Given the description of an element on the screen output the (x, y) to click on. 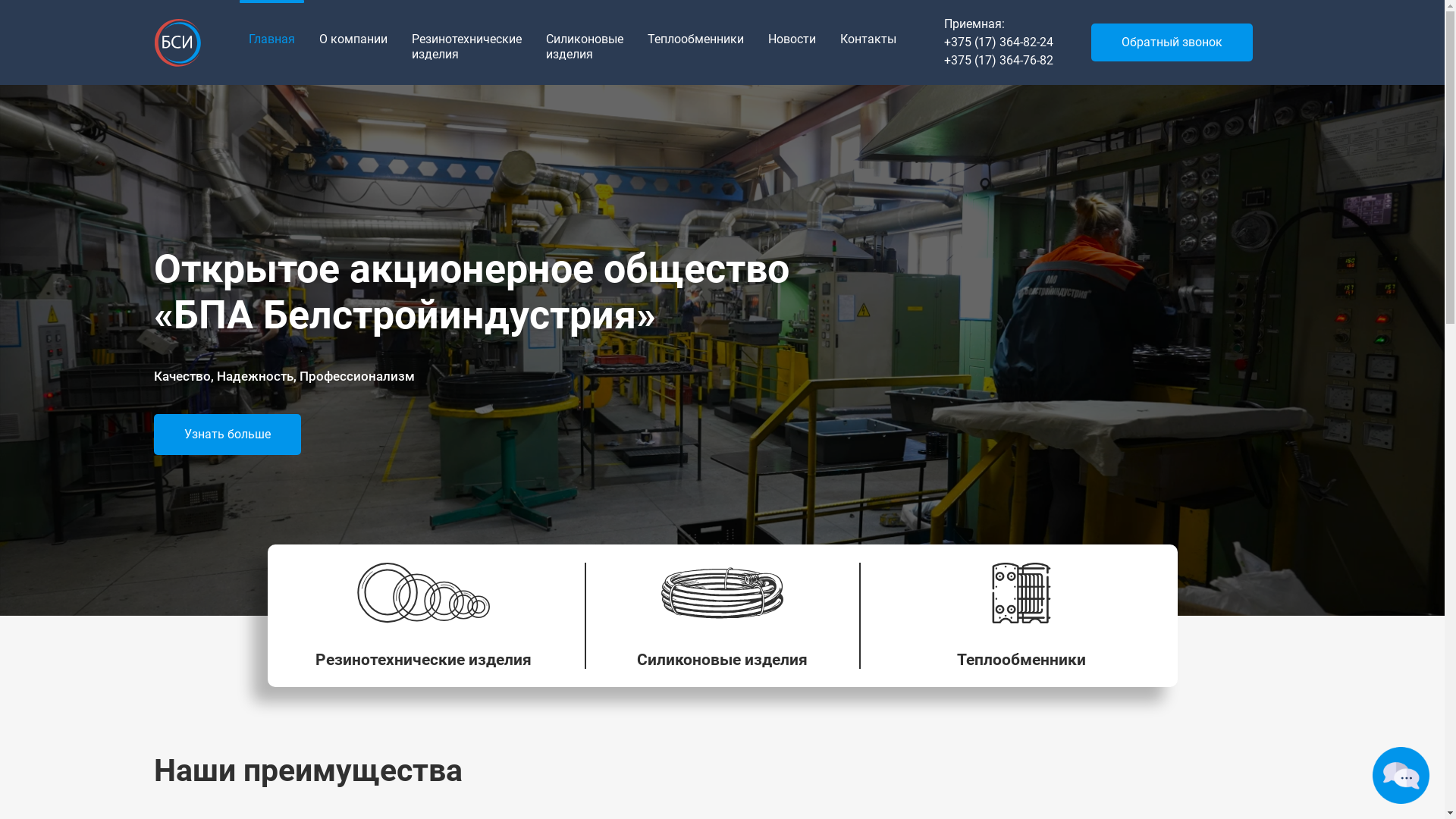
+375 (17) 364-76-82 Element type: text (997, 60)
+375 (17) 364-82-24 Element type: text (997, 42)
